Given the description of an element on the screen output the (x, y) to click on. 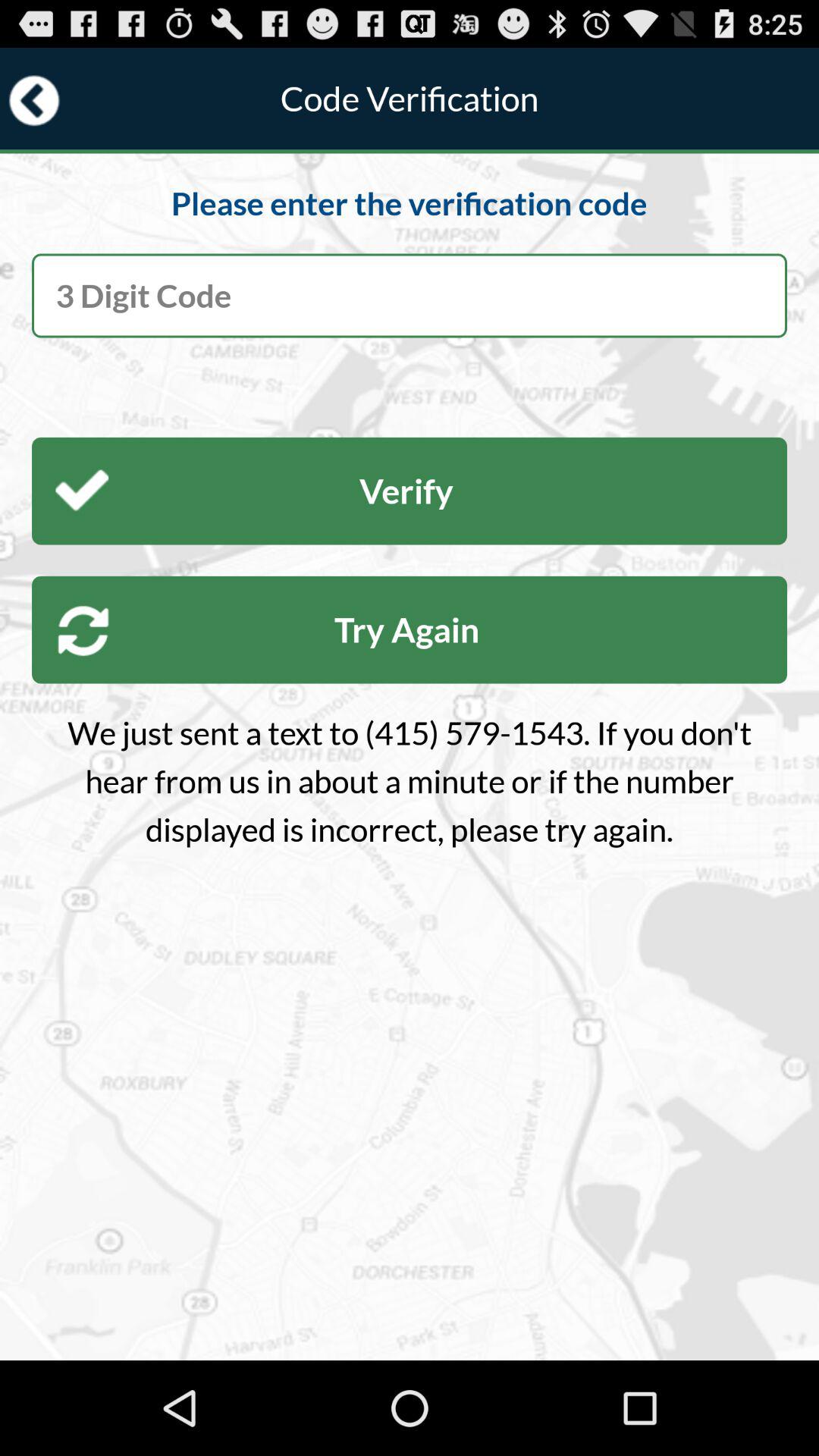
enter the verification code received (409, 295)
